Given the description of an element on the screen output the (x, y) to click on. 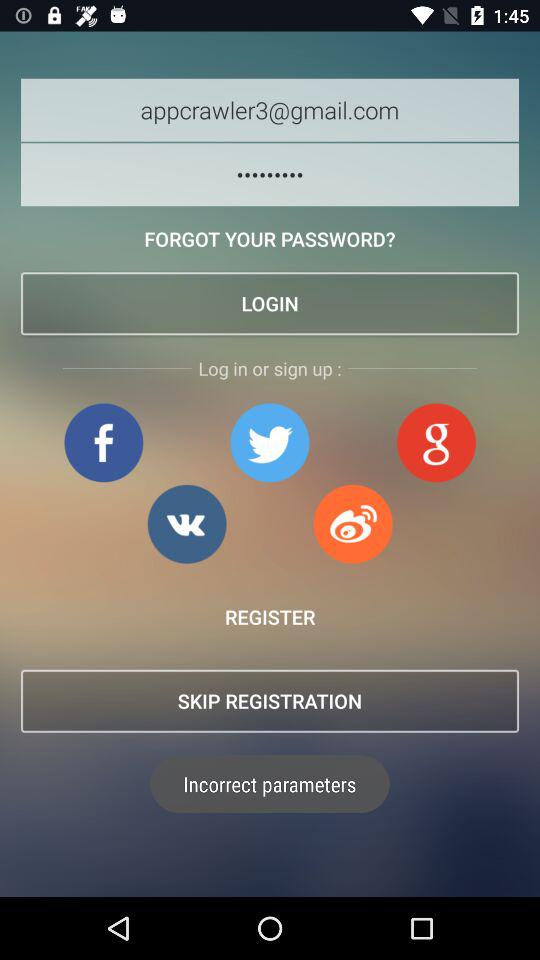
google icon (436, 442)
